Given the description of an element on the screen output the (x, y) to click on. 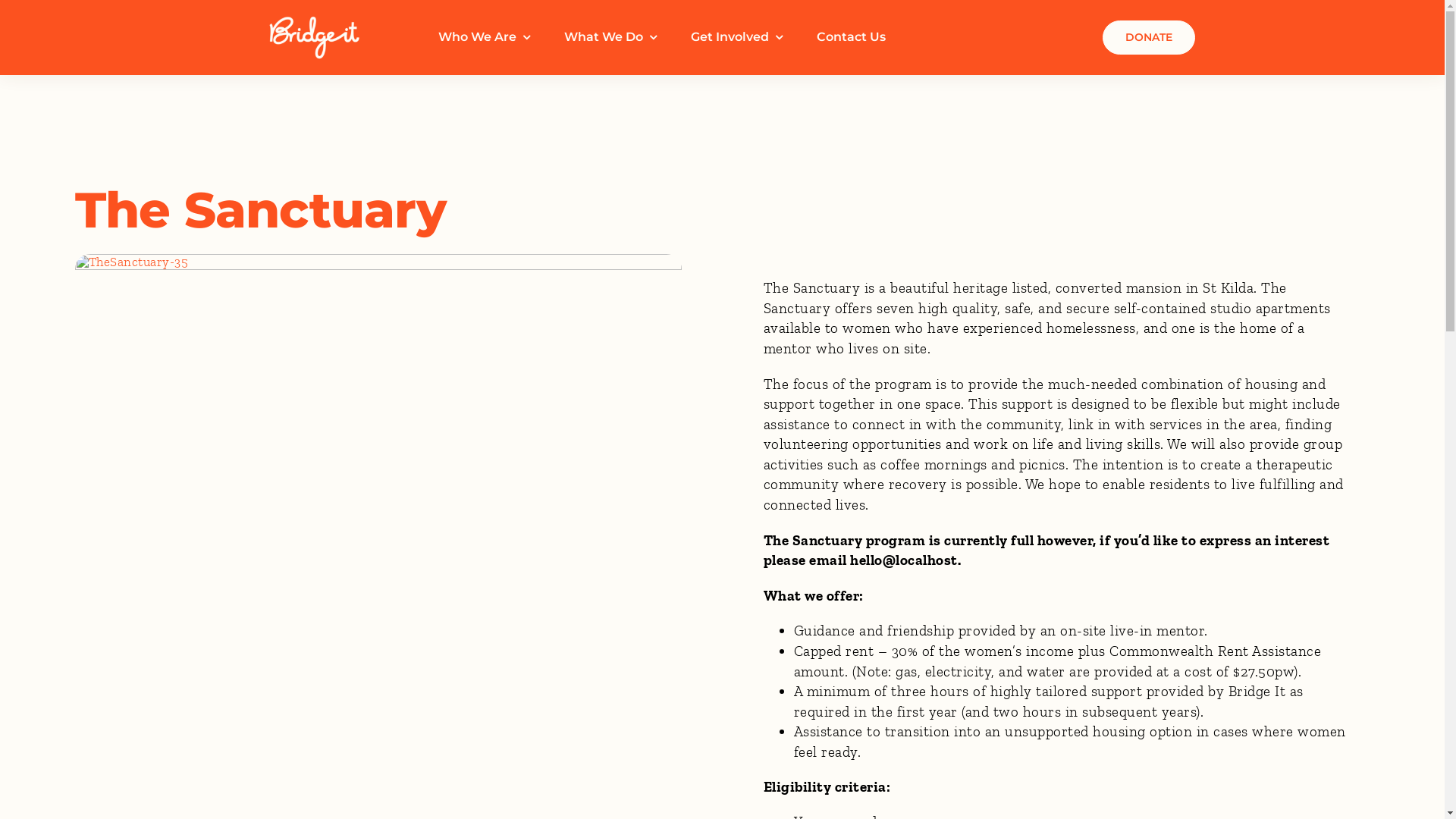
Get Involved Element type: text (736, 37)
What We Do Element type: text (610, 37)
Contact Us Element type: text (850, 37)
Who We Are Element type: text (484, 37)
DONATE Element type: text (1148, 37)
